Given the description of an element on the screen output the (x, y) to click on. 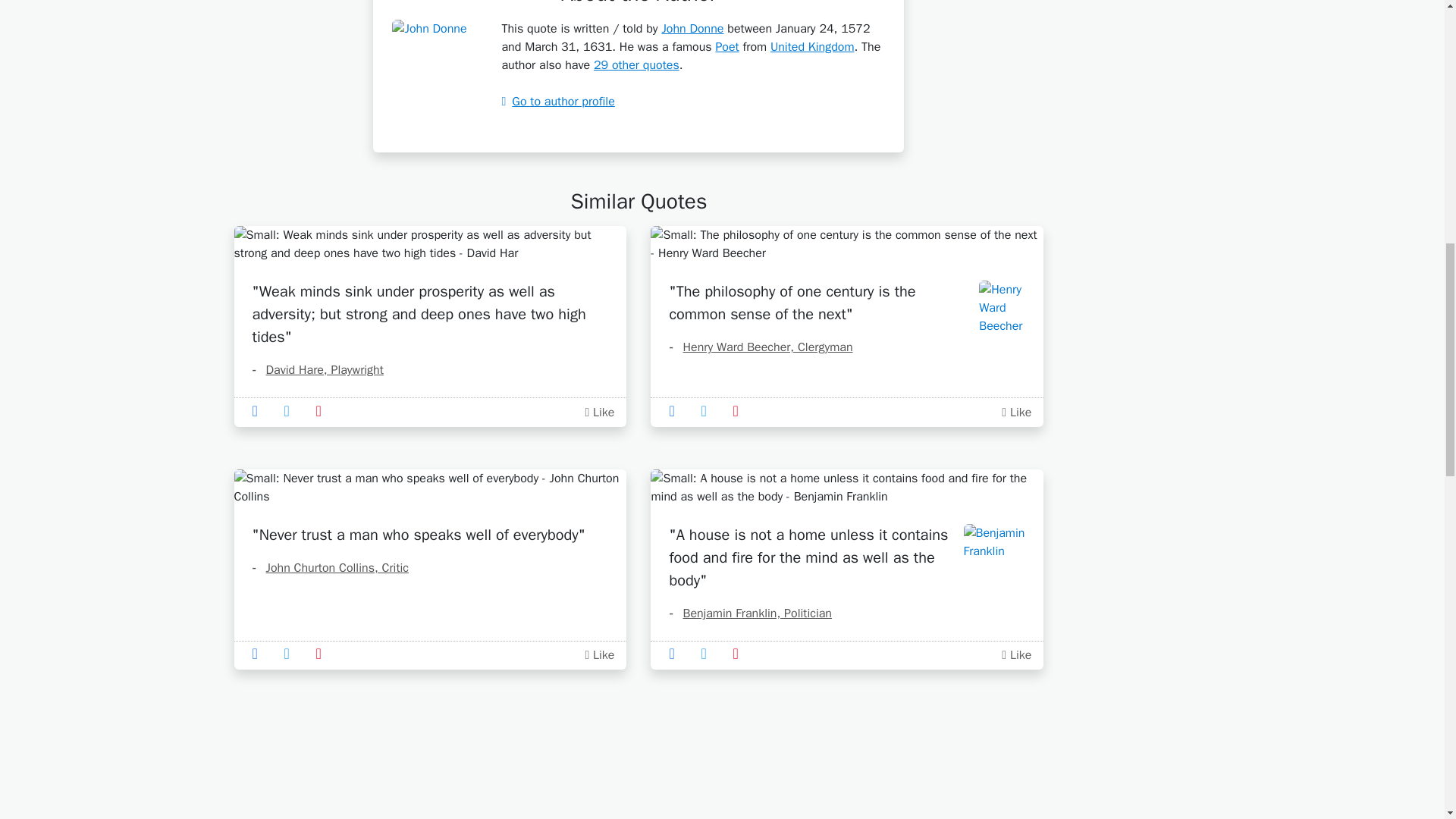
Share on Pinterest (322, 410)
John Donne (692, 28)
Share on Facebook (676, 410)
Share on Pinterest (322, 653)
Poet (726, 46)
29 other quotes (636, 64)
John Churton Collins, Critic (329, 567)
United Kingdom (812, 46)
Benjamin Franklin, Politician (749, 613)
Share on Twitter (708, 410)
Go to author profile (557, 101)
David Hare, Playwright (316, 369)
Share on Twitter (290, 410)
Vote on the best quotes (599, 412)
Henry Ward Beecher, Clergyman (759, 346)
